Given the description of an element on the screen output the (x, y) to click on. 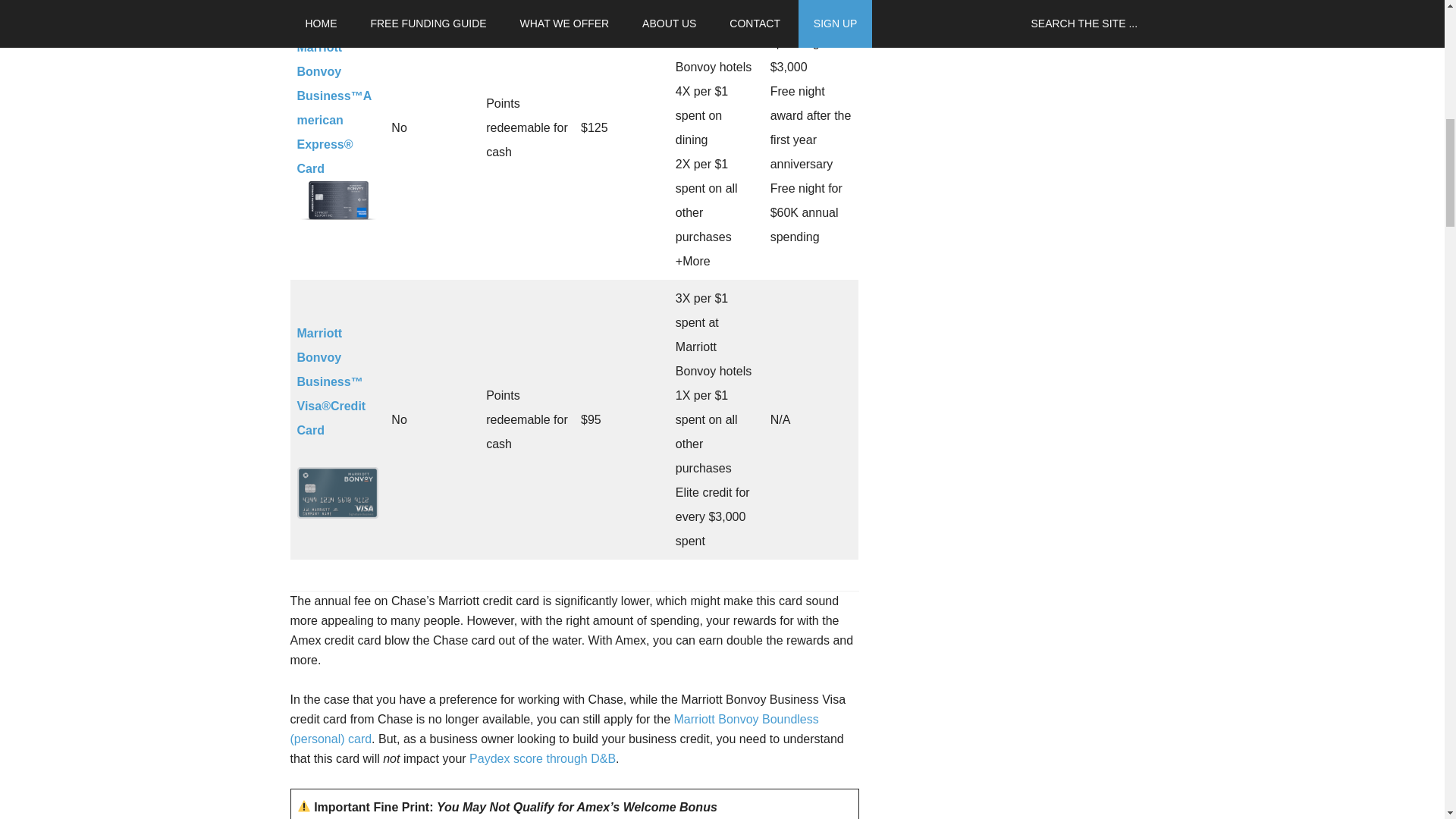
Credit Card (331, 417)
